Given the description of an element on the screen output the (x, y) to click on. 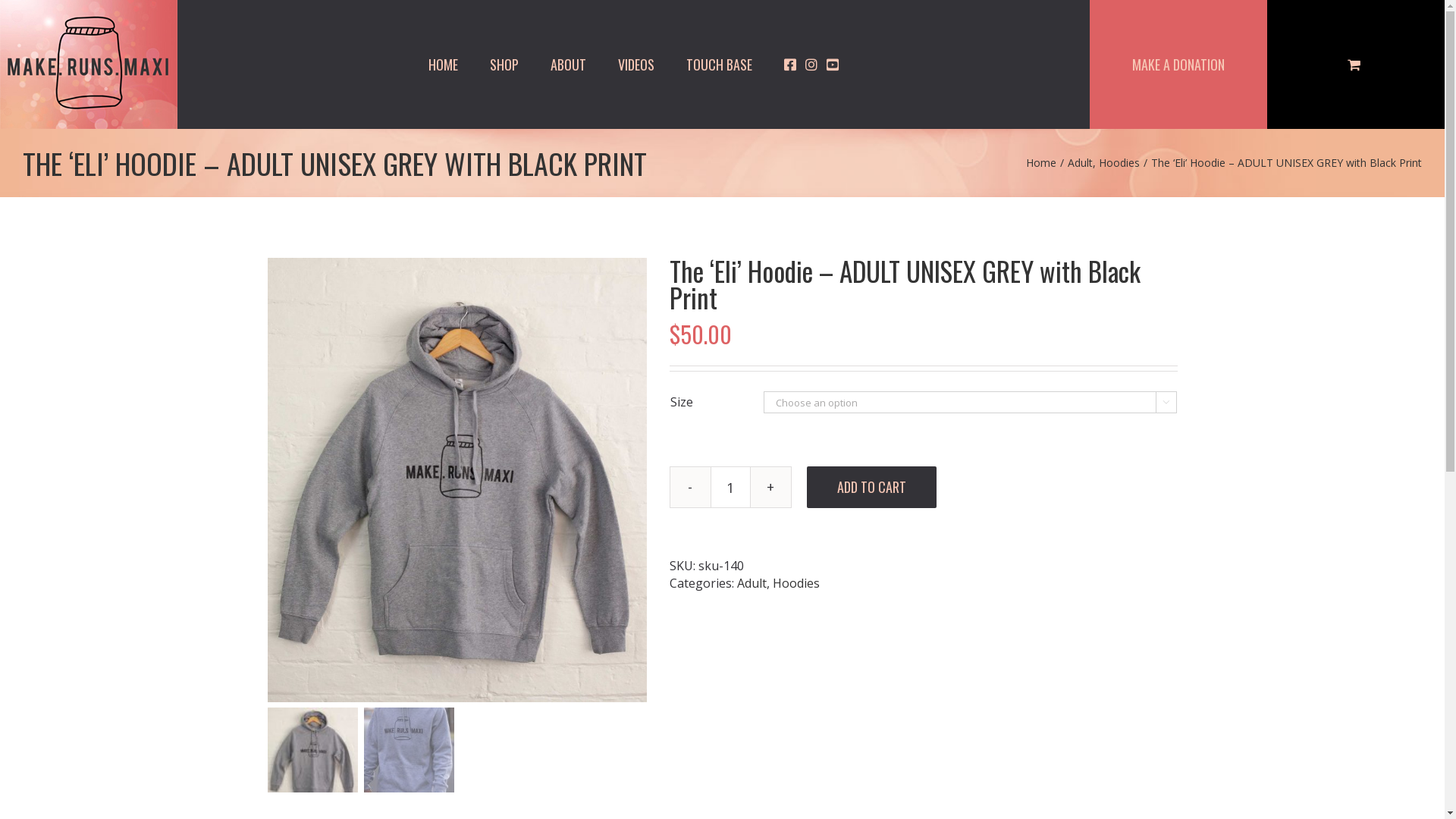
Home Element type: text (1041, 162)
ABOUT Element type: text (568, 64)
Qty Element type: hover (729, 487)
Adult Element type: text (1079, 162)
TOUCH BASE Element type: text (719, 64)
unisex-hoodie-grey-black-print-ELI Element type: hover (456, 479)
MAKE A DONATION Element type: text (1178, 64)
SHOP Element type: text (503, 64)
Hoodies Element type: text (1118, 162)
HOME Element type: text (443, 64)
Hoodies Element type: text (795, 582)
Adult Element type: text (751, 582)
VIDEOS Element type: text (636, 64)
ADD TO CART Element type: text (871, 487)
